Given the description of an element on the screen output the (x, y) to click on. 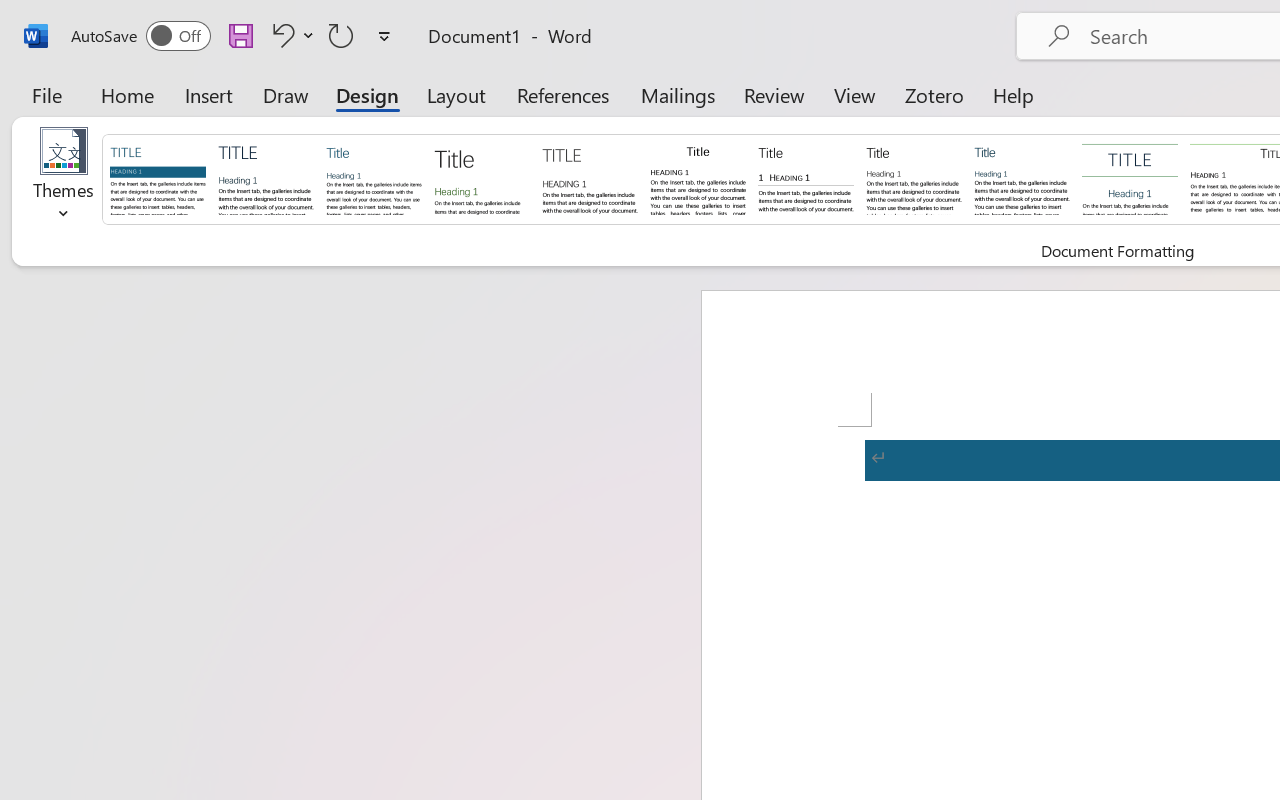
Basic (Stylish) (481, 178)
Casual (1021, 178)
Document (157, 178)
Undo Apply Quick Style Set (290, 35)
